Given the description of an element on the screen output the (x, y) to click on. 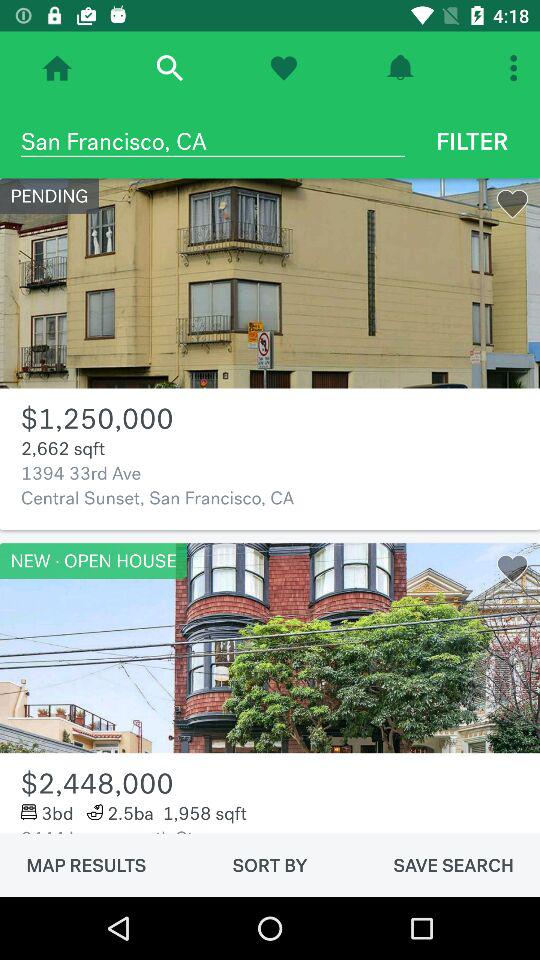
press item to the right of the sort by (453, 865)
